Given the description of an element on the screen output the (x, y) to click on. 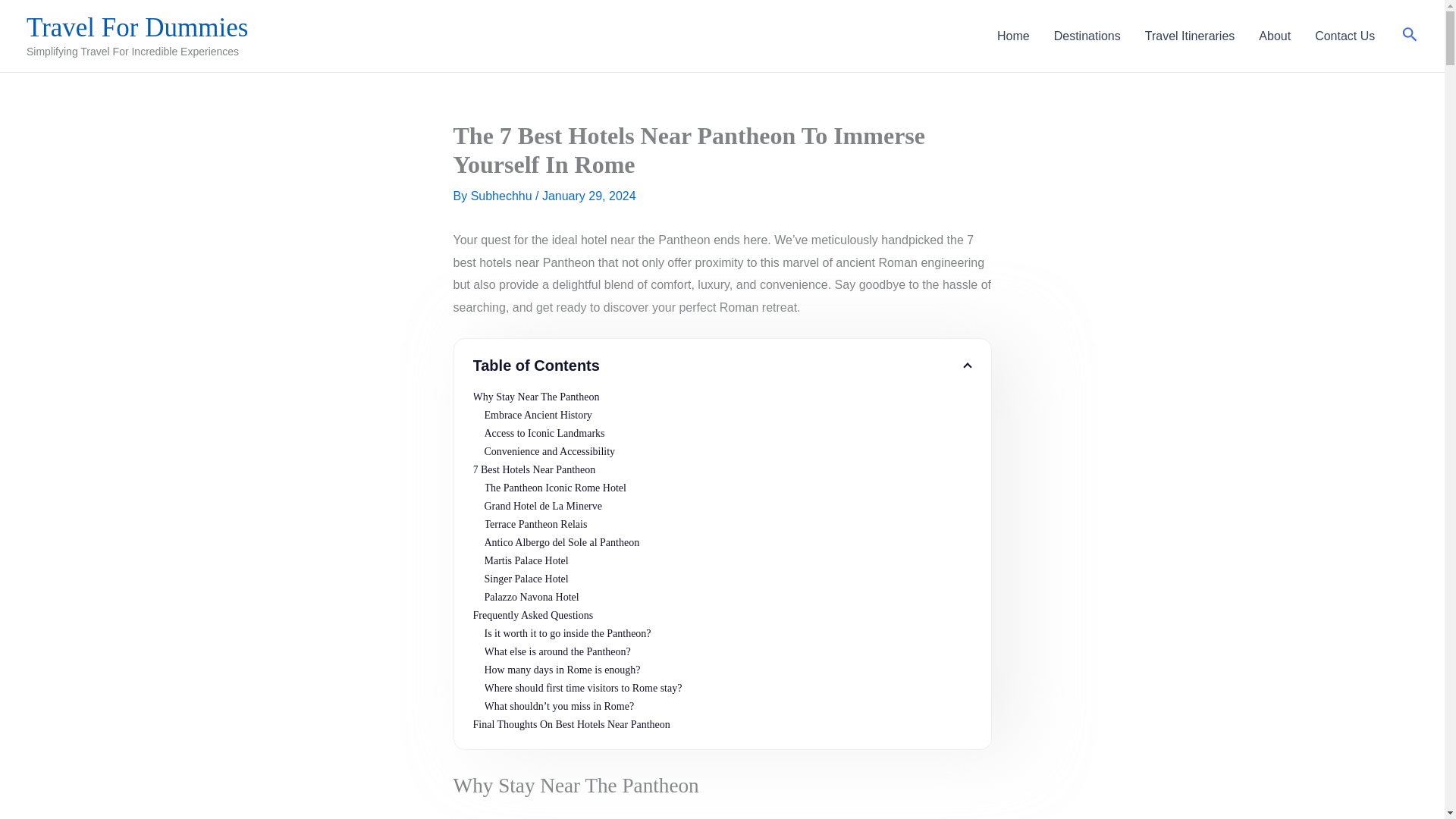
About (1274, 35)
What else is around the Pantheon? (727, 651)
Home (1013, 35)
Martis Palace Hotel (727, 561)
Travel Itineraries (1189, 35)
Contact Us (1345, 35)
Frequently Asked Questions (722, 615)
Subhechhu (502, 195)
View all posts by Subhechhu (502, 195)
How many days in Rome is enough? (727, 669)
